Given the description of an element on the screen output the (x, y) to click on. 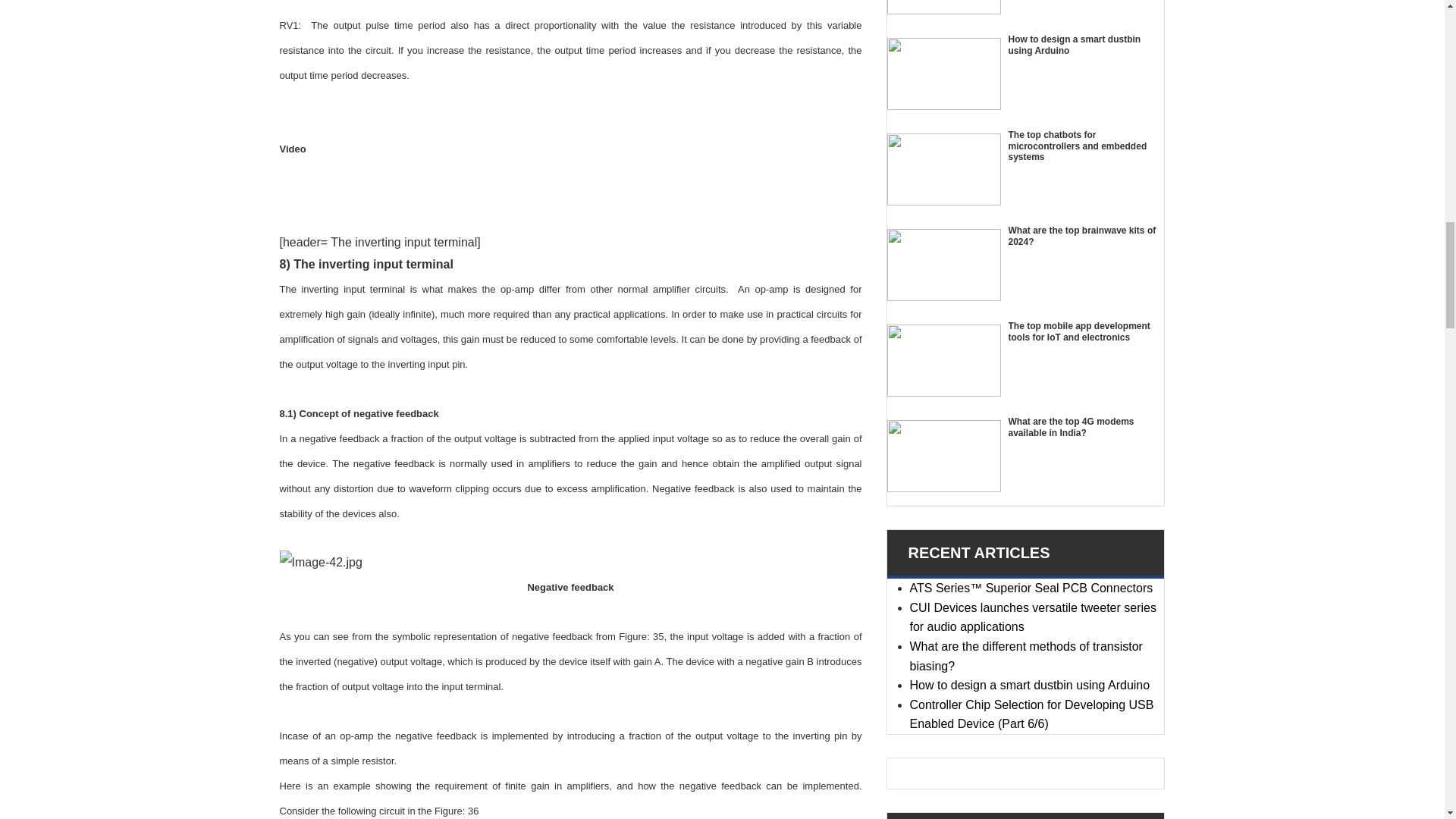
What are the top brainwave kits of 2024? (943, 265)
The top chatbots for microcontrollers and embedded systems (943, 169)
The top mobile app development tools for IoT and electronics (943, 360)
What are the different methods of transistor biasing? (943, 7)
What are the top 4G modems available in India? (943, 456)
How to design a smart dustbin using Arduino (943, 73)
